Given the description of an element on the screen output the (x, y) to click on. 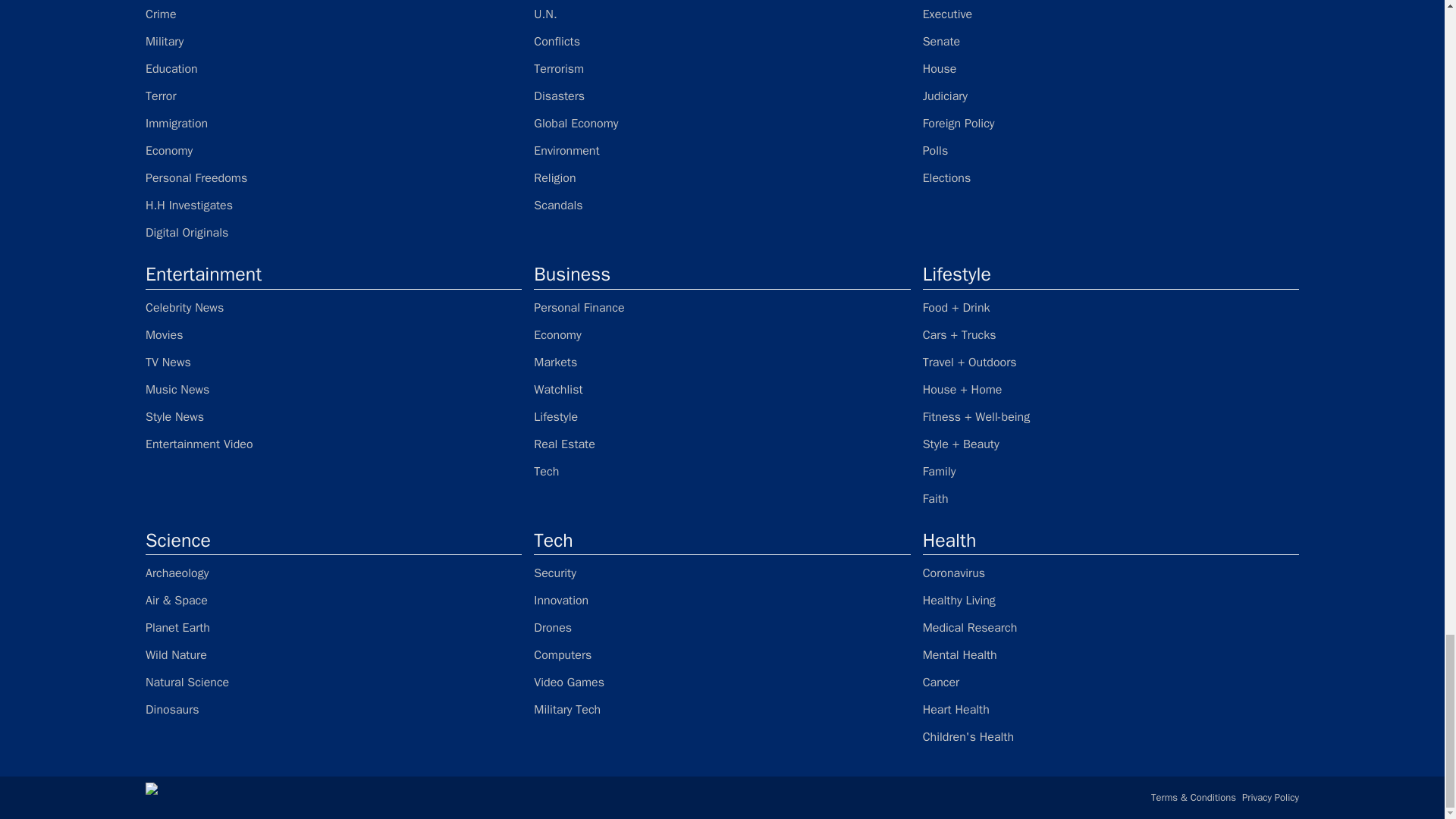
Economy (333, 150)
Conflicts (722, 41)
Digital Originals (333, 232)
Personal Freedoms (333, 178)
Executive (1110, 14)
Education (333, 68)
Religion (722, 178)
Military (333, 41)
H.H Investigates (333, 205)
Disasters (722, 96)
Environment (722, 150)
Terror (333, 96)
Immigration (333, 123)
Global Economy (722, 123)
U.N. (722, 14)
